Given the description of an element on the screen output the (x, y) to click on. 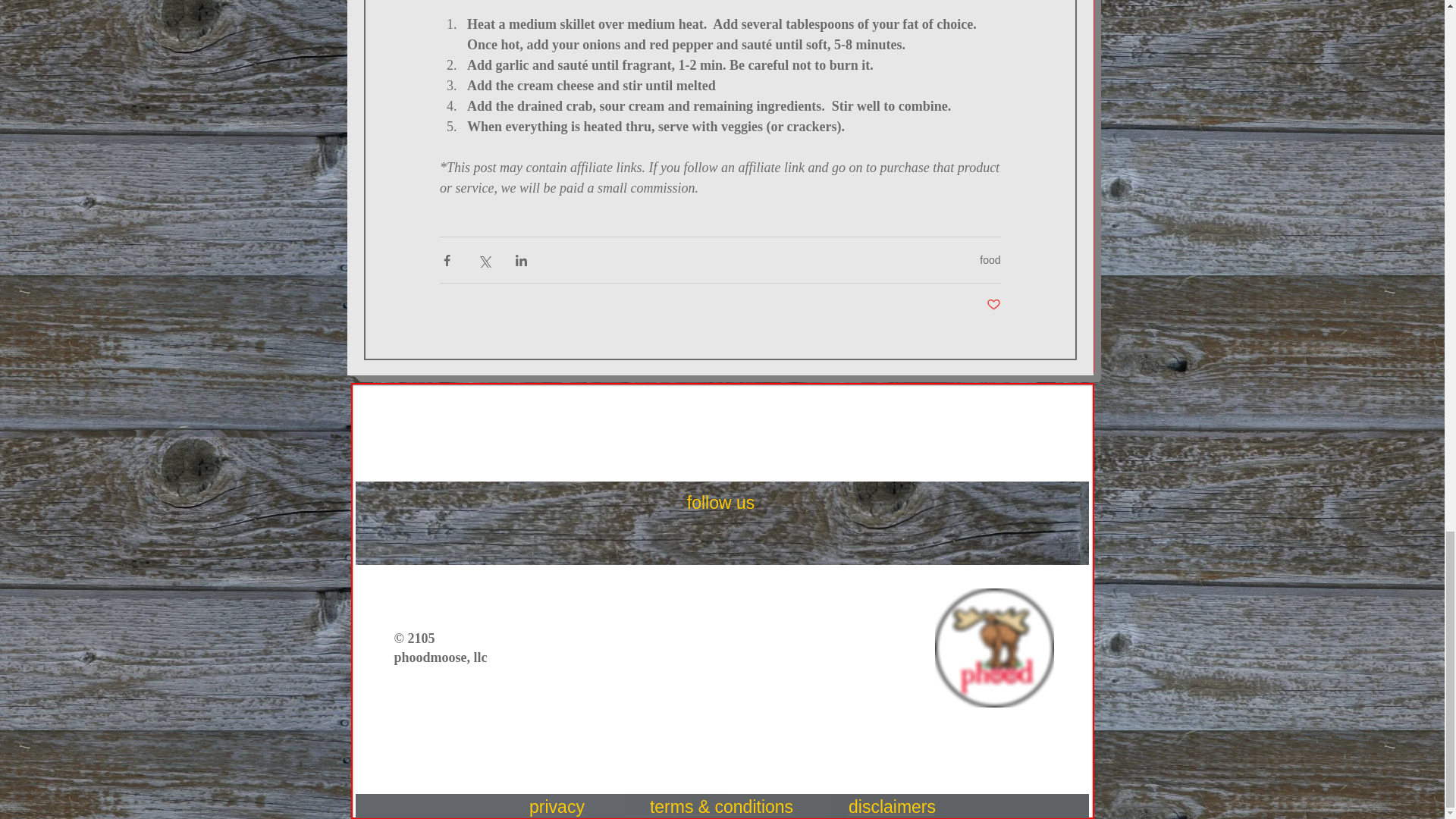
food (989, 259)
disclaimers (892, 806)
Post not marked as liked (992, 304)
privacy (557, 806)
